Given the description of an element on the screen output the (x, y) to click on. 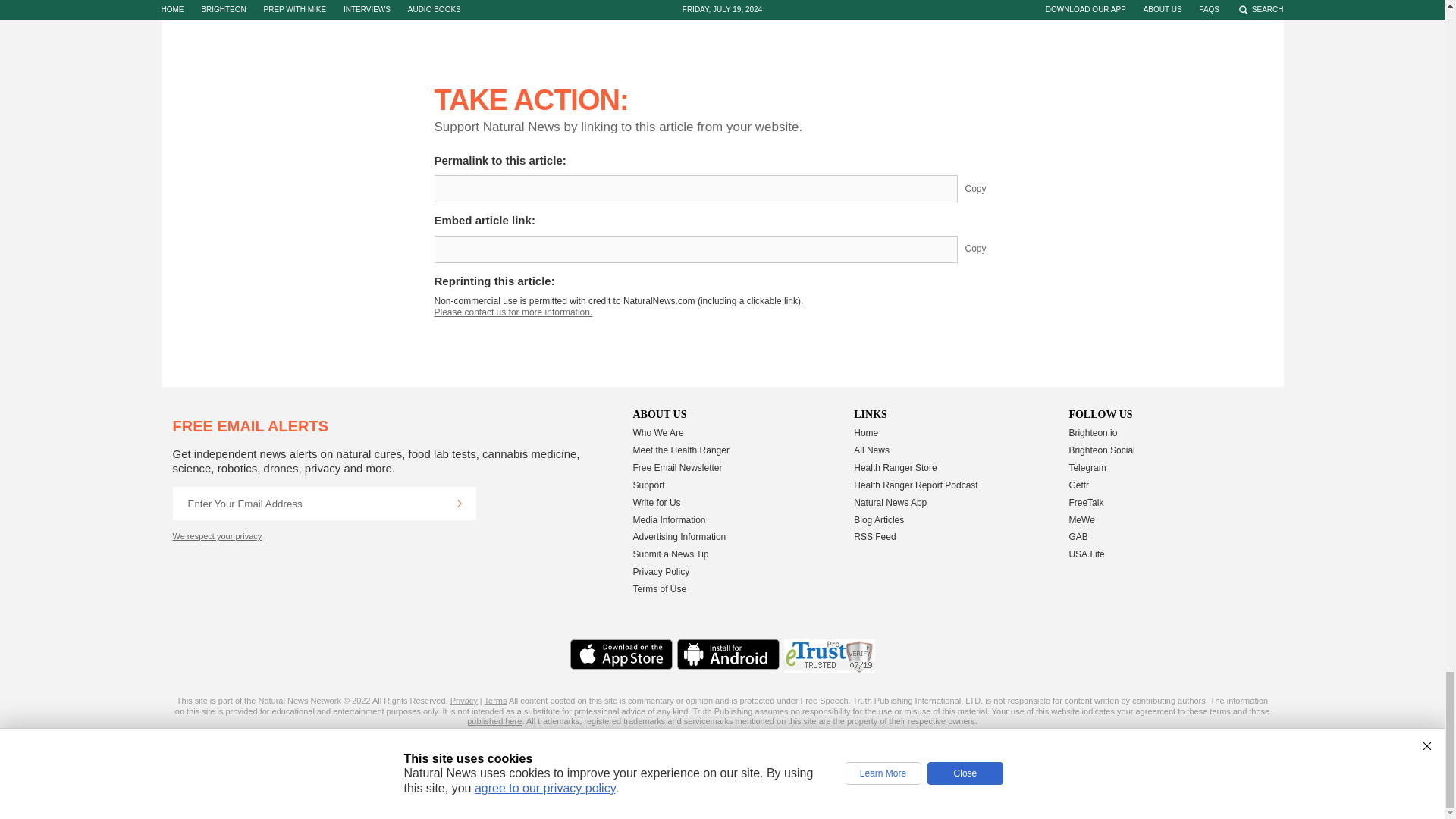
Copy Embed Link (986, 248)
Copy Permalink (986, 188)
Continue (459, 503)
eTrust Pro Certified (829, 656)
